Given the description of an element on the screen output the (x, y) to click on. 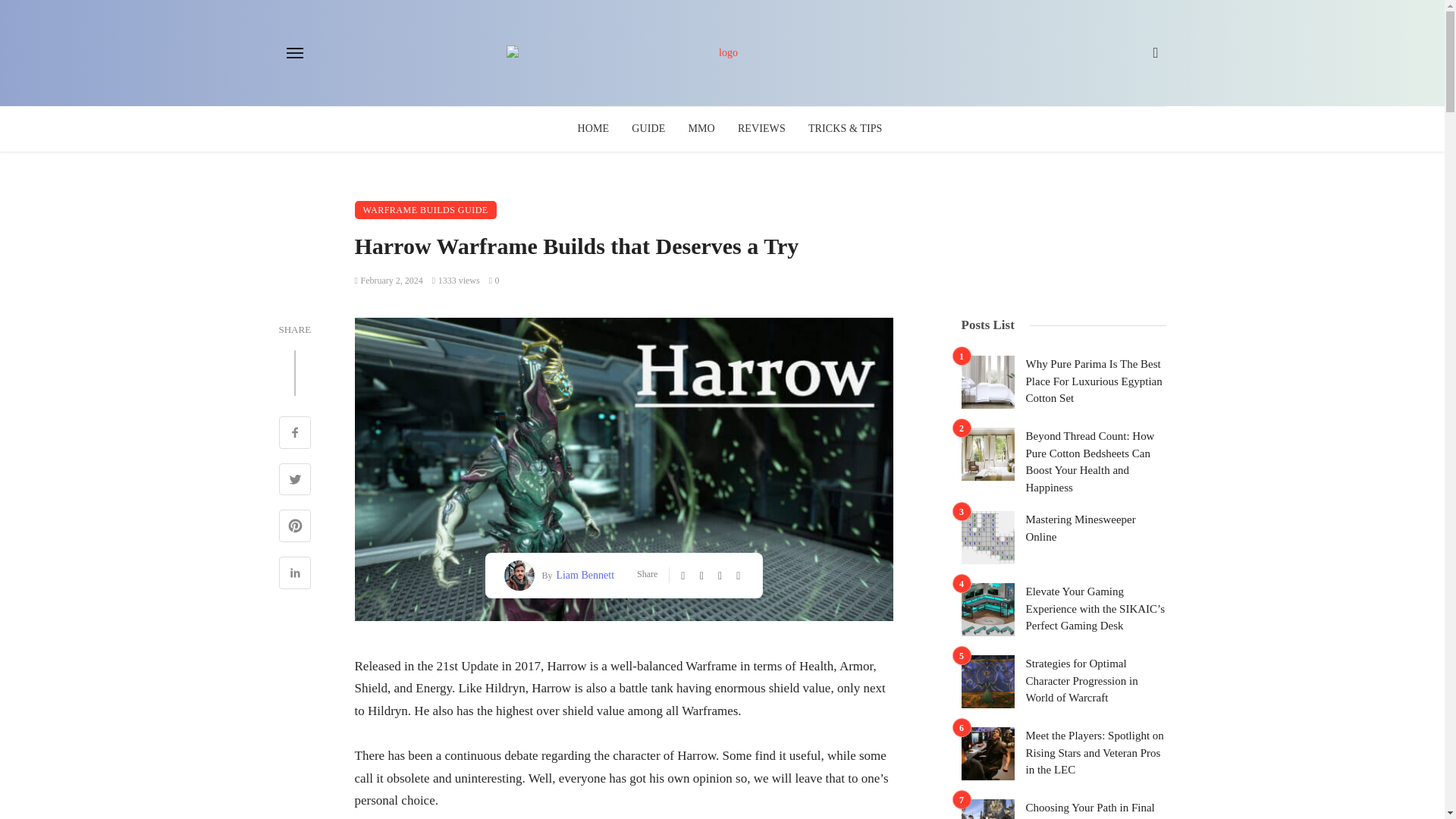
Share on Facebook (295, 434)
MMO (701, 128)
Share on Pinterest (295, 527)
REVIEWS (761, 128)
HOME (593, 128)
Share on Twitter (295, 481)
WARFRAME BUILDS GUIDE (425, 209)
Share on Linkedin (295, 574)
Liam Bennett (582, 575)
0 Comments (494, 280)
Posts by Liam Bennett (582, 575)
February 2, 2024 at 6:10 am (389, 280)
0 (494, 280)
GUIDE (648, 128)
